Given the description of an element on the screen output the (x, y) to click on. 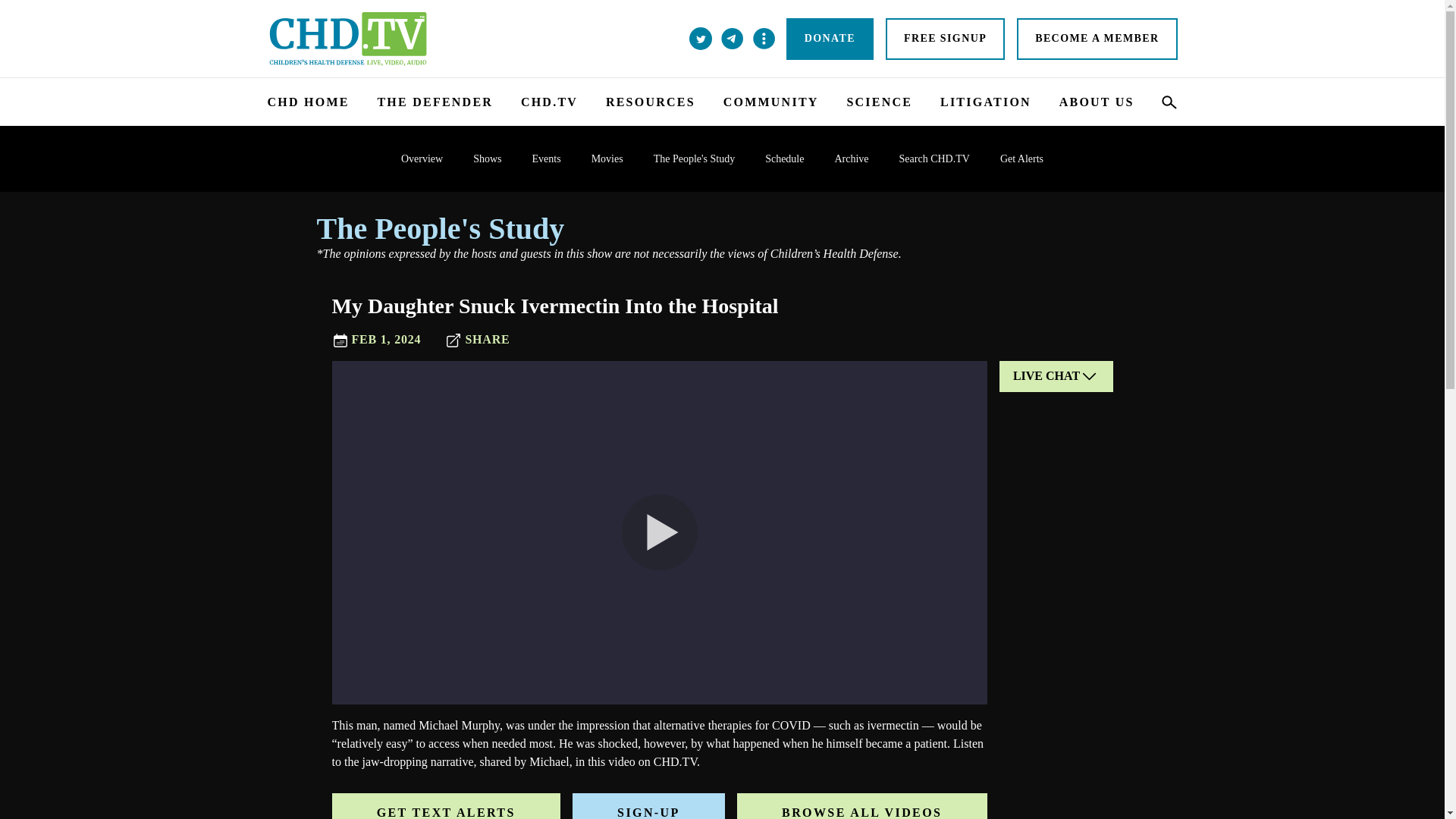
DONATE (829, 38)
LITIGATION (985, 102)
CHD HOME (307, 102)
ABOUT US (1096, 102)
SIGN-UP (648, 806)
Schedule (783, 158)
The People's Study (722, 228)
BECOME A MEMBER (1096, 38)
BECOME A MEMBER (1095, 38)
Get Alerts (1021, 158)
FREE SIGNUP (944, 38)
BROWSE ALL VIDEOS (861, 806)
CHD.TV (549, 102)
Shows (487, 158)
